Given the description of an element on the screen output the (x, y) to click on. 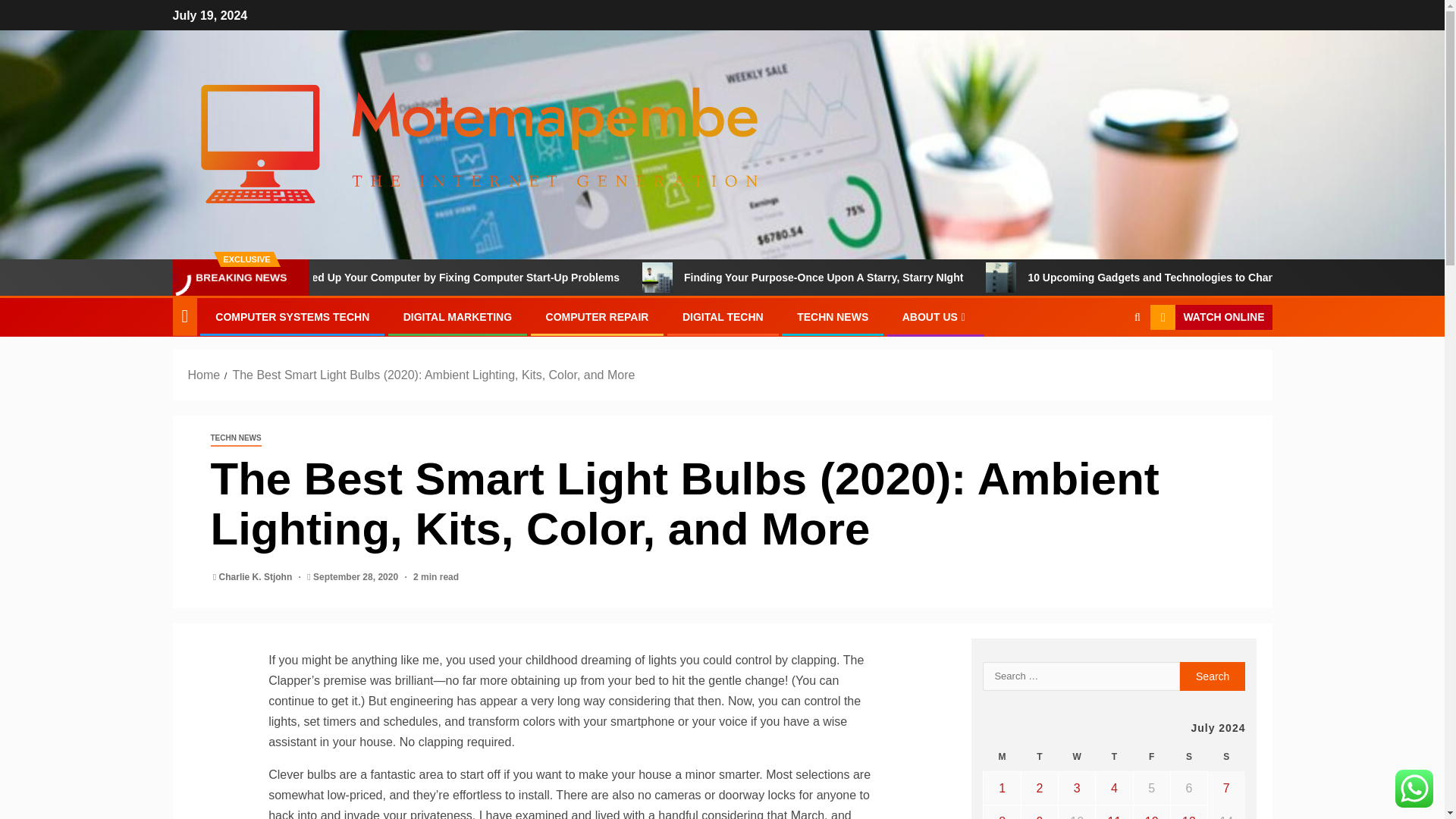
10 Upcoming Gadgets and Technologies to Change the World (1063, 277)
Search (1212, 676)
Charlie K. Stjohn (257, 576)
COMPUTER REPAIR (597, 316)
ABOUT US (935, 316)
Search (1212, 676)
TECHN NEWS (236, 438)
Home (204, 374)
Search (1107, 363)
Finding Your Purpose-Once Upon A Starry, Starry NIght (721, 277)
Monday (1002, 756)
Finding Your Purpose-Once Upon A Starry, Starry NIght (908, 277)
TECHN NEWS (831, 316)
WATCH ONLINE (1210, 317)
